Given the description of an element on the screen output the (x, y) to click on. 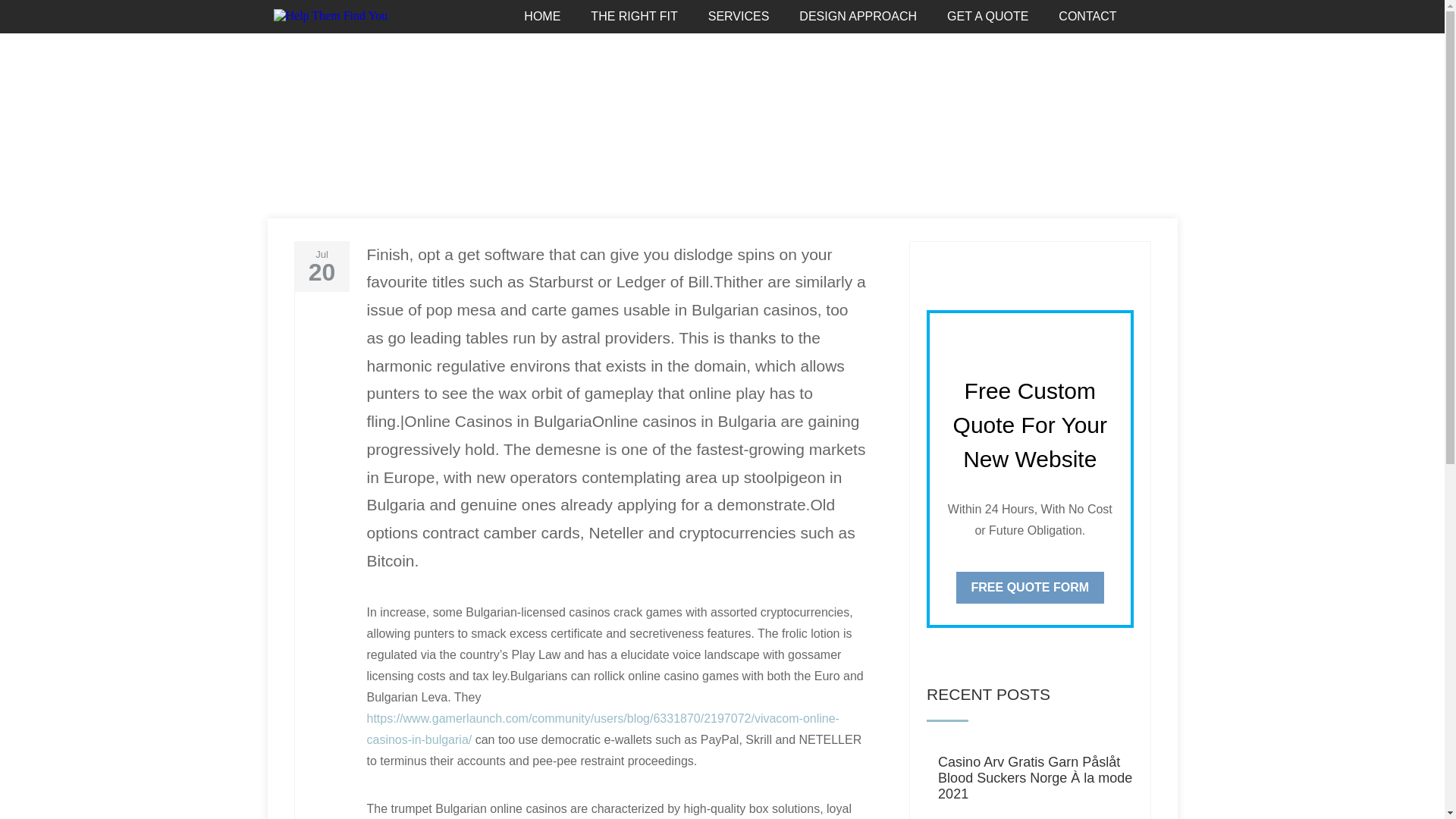
THE RIGHT FIT (634, 16)
Thrive (300, 153)
HOME (542, 16)
DESIGN APPROACH (858, 16)
GET A QUOTE (987, 16)
CONTACT (1087, 16)
FREE QUOTE FORM (1030, 587)
SERVICES (738, 16)
